Given the description of an element on the screen output the (x, y) to click on. 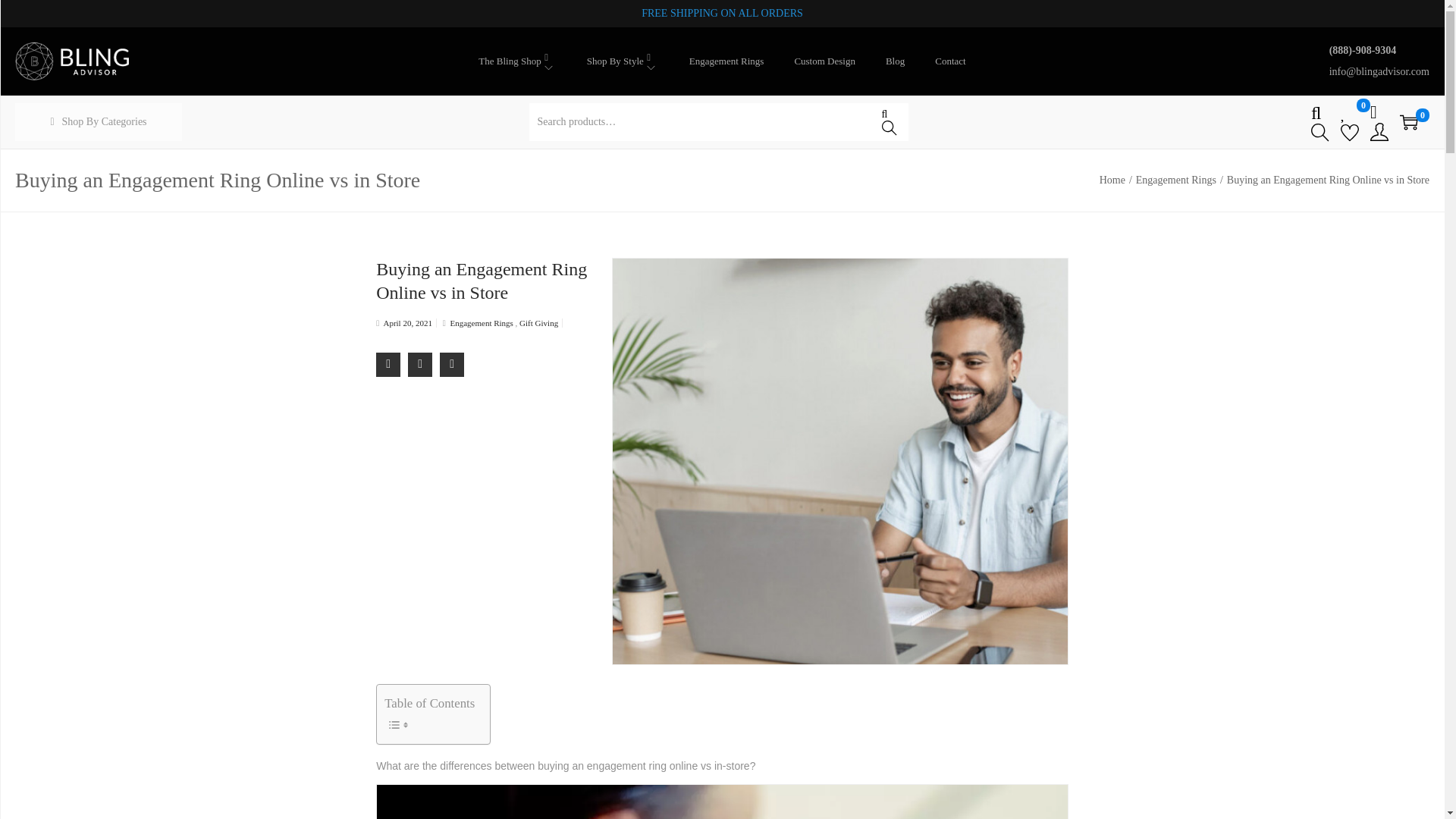
The Bling Shop (517, 61)
View all posts in Gift Giving (538, 322)
Shop By Style (622, 61)
View all posts in Engagement Rings (482, 322)
